Given the description of an element on the screen output the (x, y) to click on. 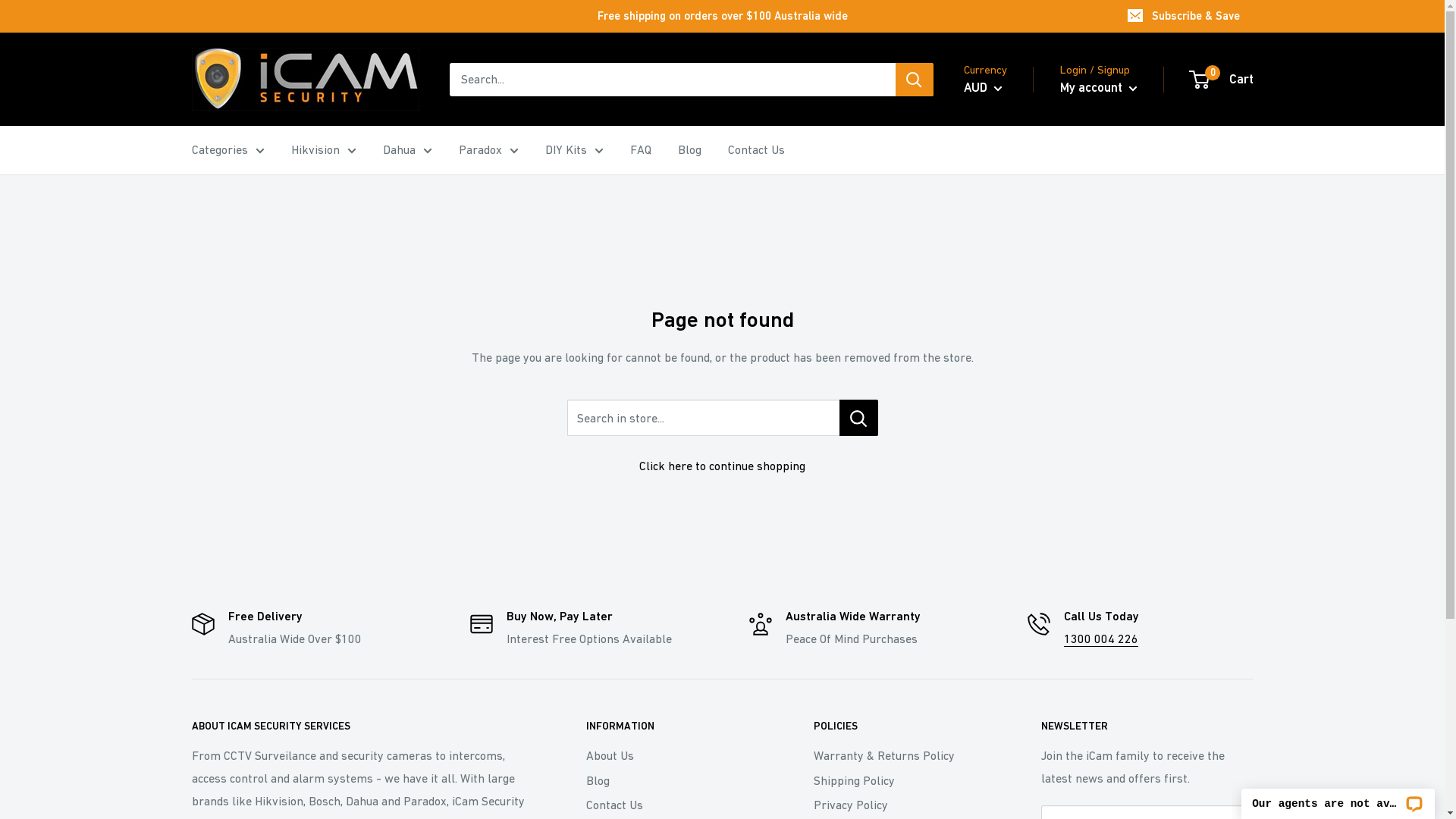
0
Cart Element type: text (1221, 79)
DIY Kits Element type: text (573, 149)
Hikvision Element type: text (323, 149)
1300 004 226 Element type: text (1100, 638)
Warranty & Returns Policy Element type: text (899, 755)
ABOUT ICAM SECURITY SERVICES Element type: text (361, 726)
About Us Element type: text (672, 755)
Click here to continue shopping Element type: text (722, 465)
PGK Element type: text (994, 151)
Shipping Policy Element type: text (899, 779)
Contact Us Element type: text (672, 804)
Contact Us Element type: text (756, 149)
Privacy Policy Element type: text (899, 804)
AUD Element type: text (982, 87)
My account Element type: text (1098, 87)
POLICIES Element type: text (899, 726)
Dahua Element type: text (406, 149)
AUD Element type: text (994, 128)
Paradox Element type: text (487, 149)
Subscribe & Save Element type: text (1184, 15)
Blog Element type: text (689, 149)
FAQ Element type: text (639, 149)
Categories Element type: text (227, 149)
INFORMATION Element type: text (672, 726)
Blog Element type: text (672, 779)
